Given the description of an element on the screen output the (x, y) to click on. 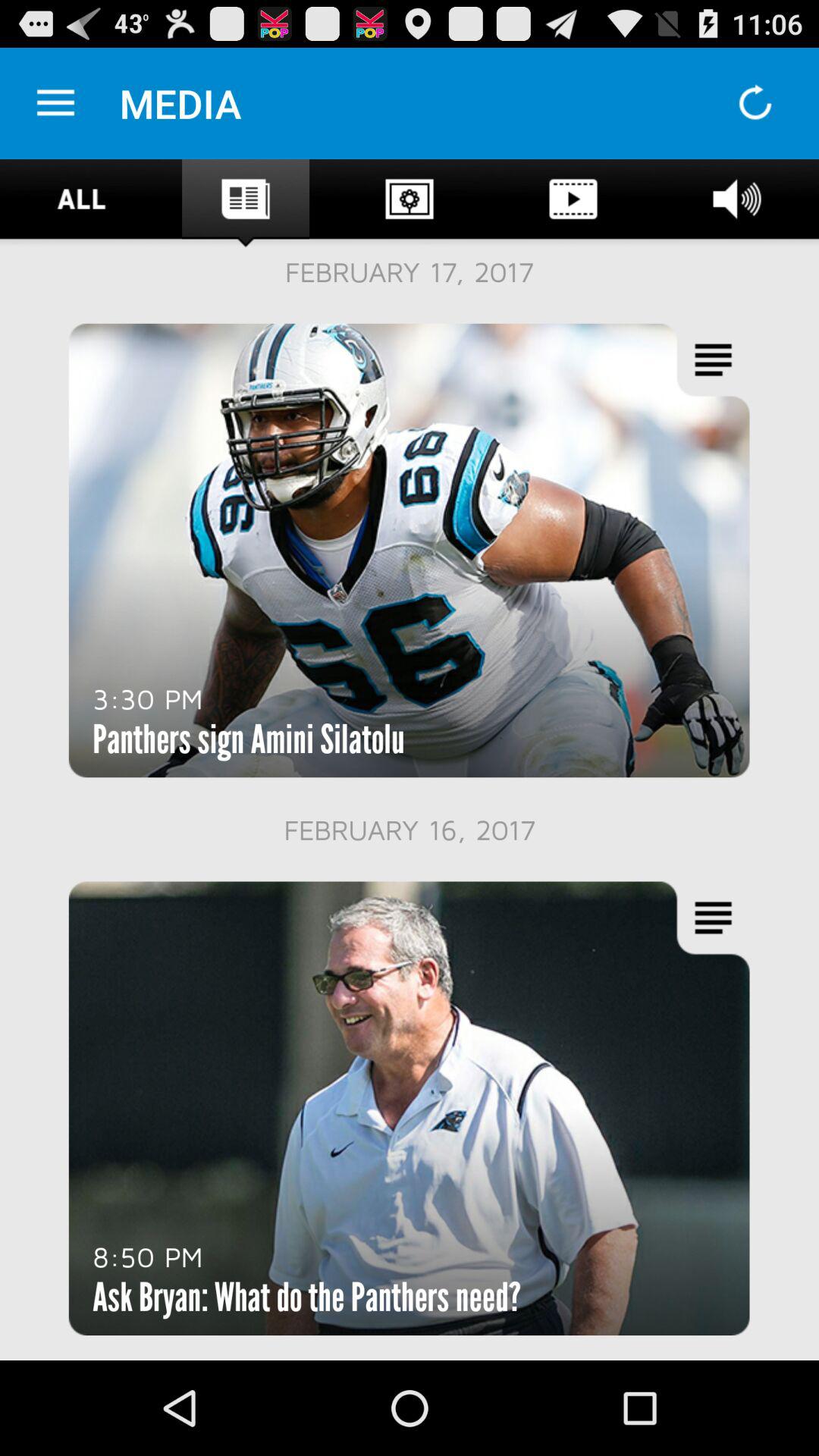
toggle menu display (55, 103)
